Given the description of an element on the screen output the (x, y) to click on. 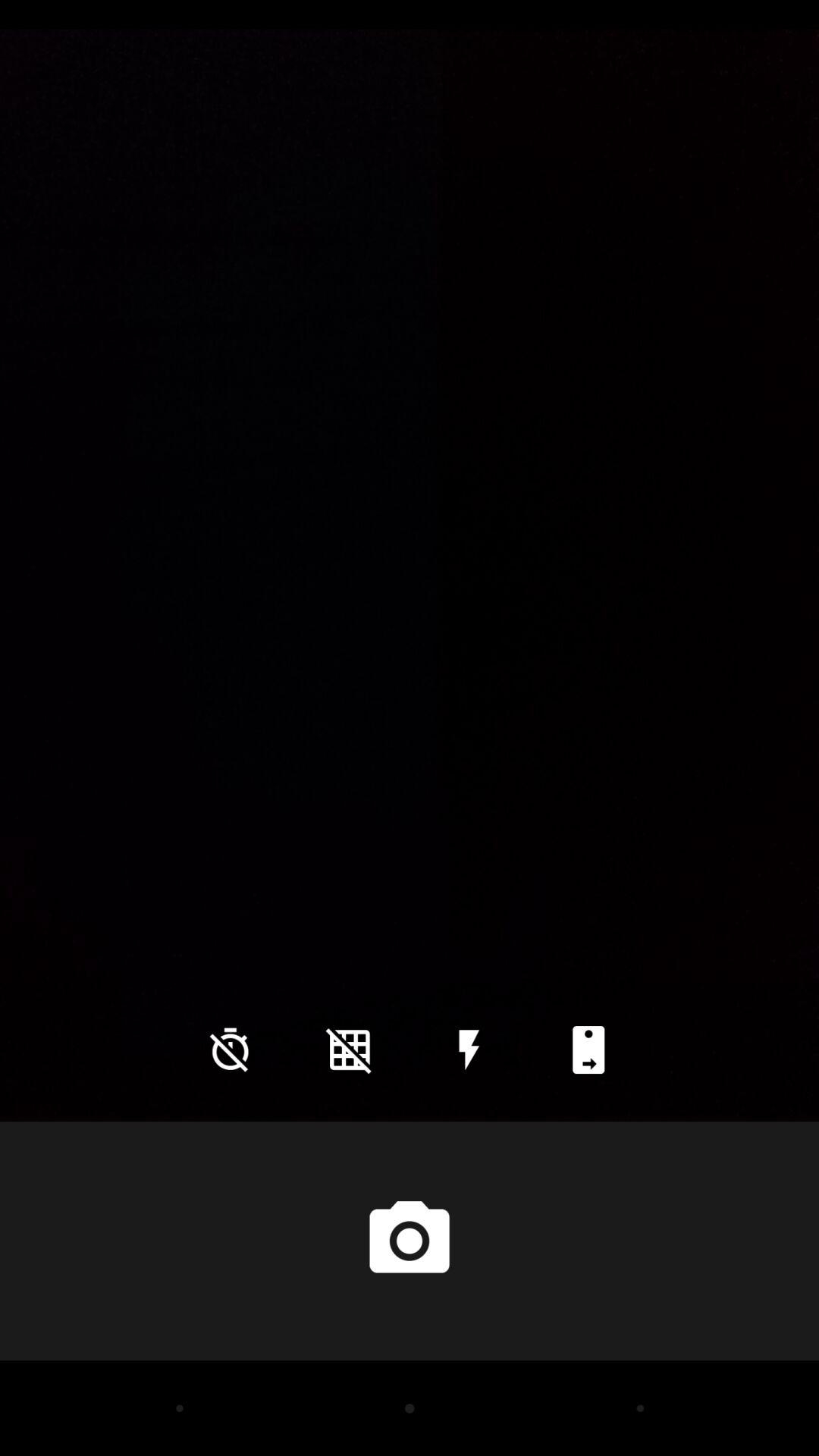
click icon at the bottom left corner (230, 1049)
